Given the description of an element on the screen output the (x, y) to click on. 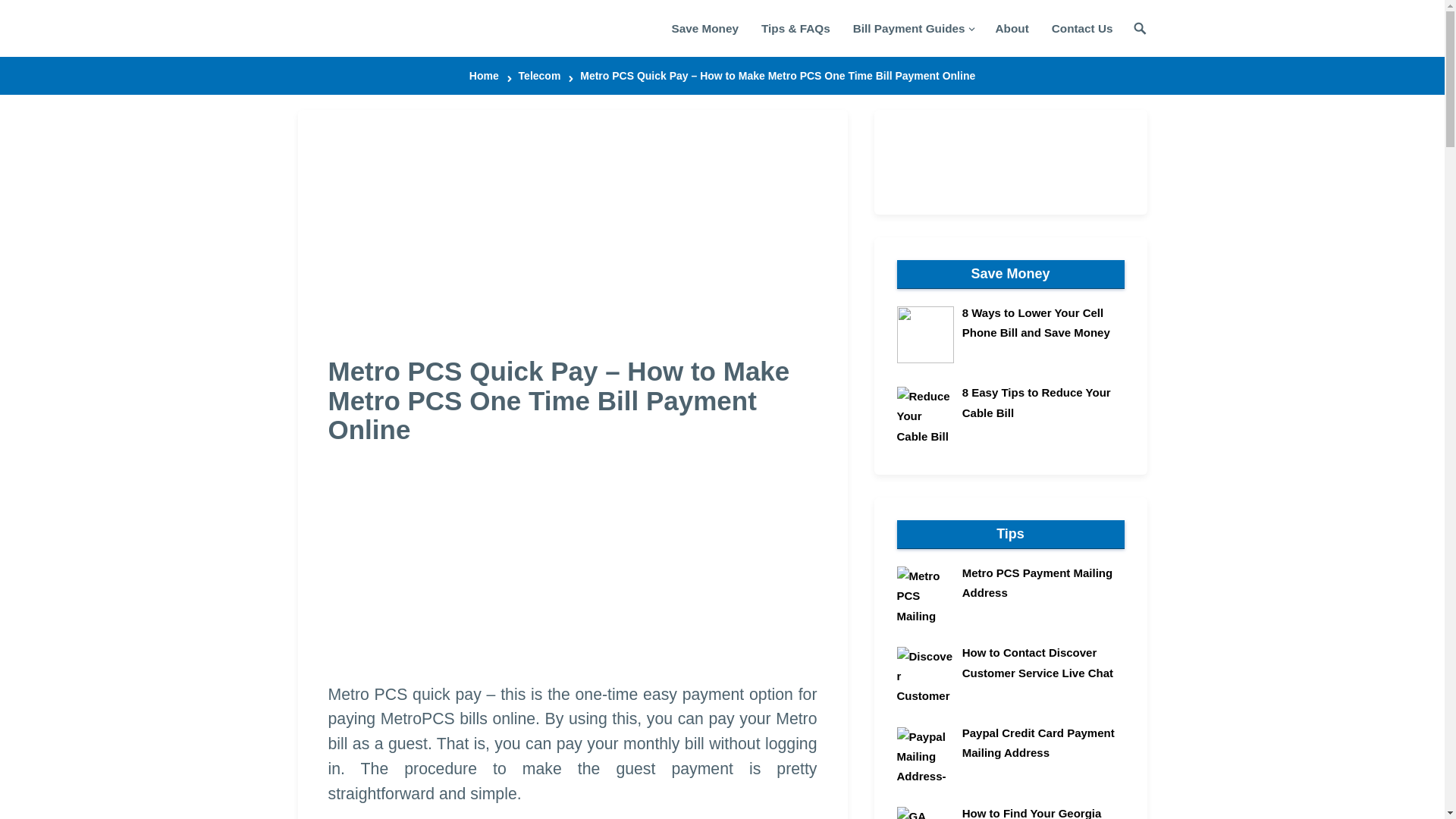
View all posts in Telecom (546, 75)
Advertisement (641, 570)
About (1012, 28)
Bill Payment Guides (912, 28)
Home (490, 75)
Contact Us (1082, 28)
Save Money (705, 28)
Telecom (546, 75)
